Given the description of an element on the screen output the (x, y) to click on. 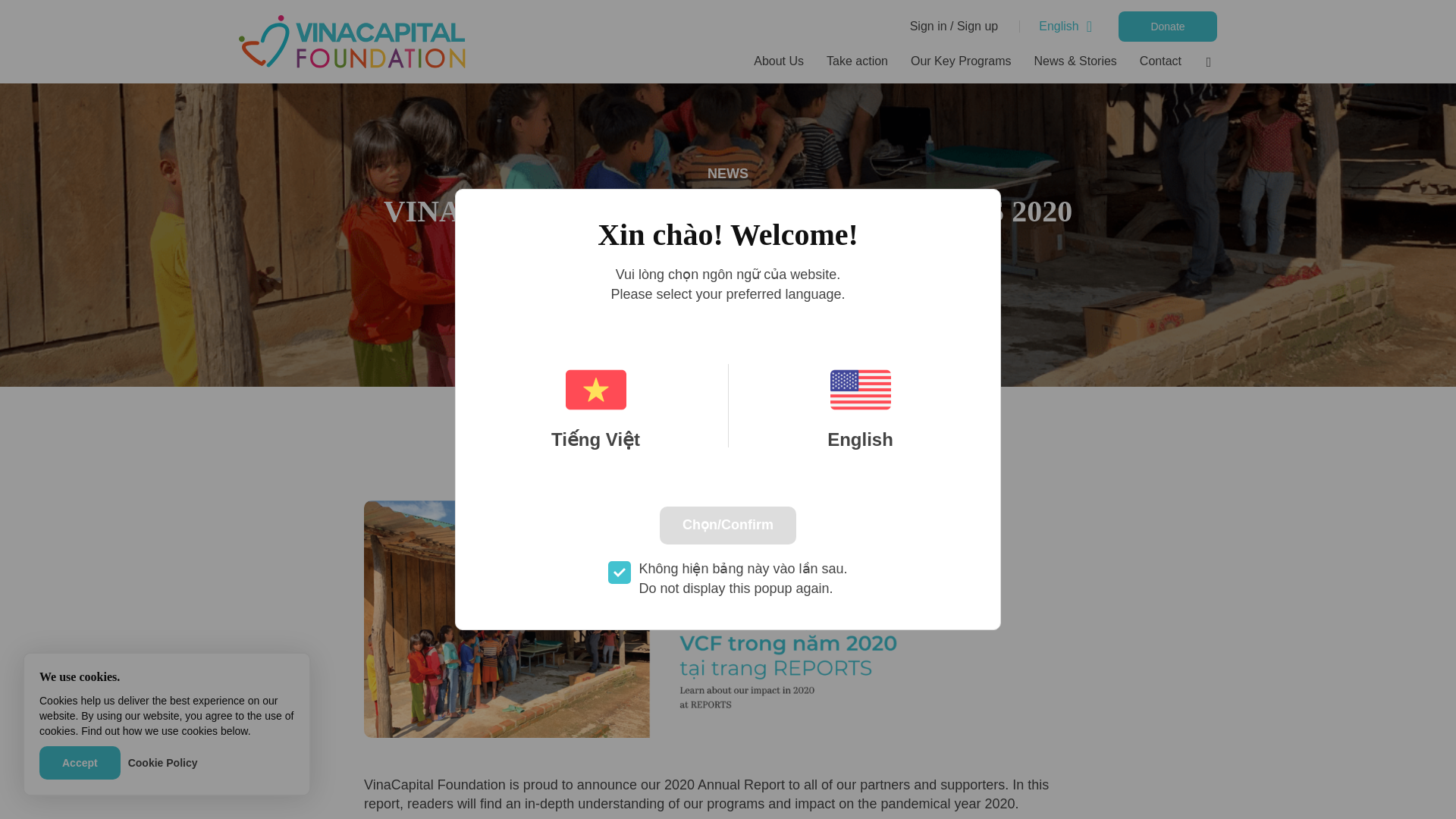
Take action (857, 62)
About Us (778, 62)
Contact (1154, 62)
Our Key Programs (960, 62)
